Given the description of an element on the screen output the (x, y) to click on. 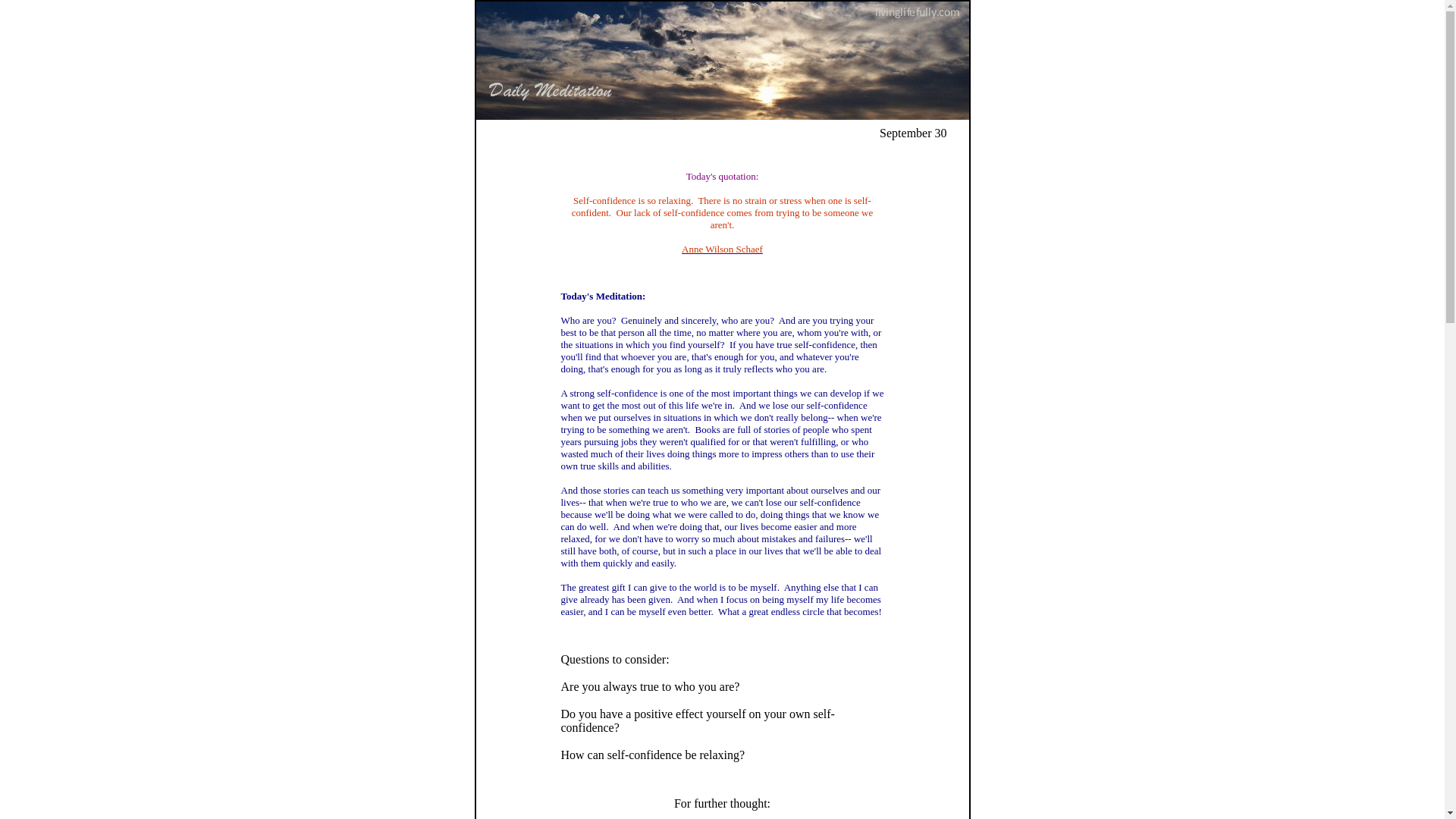
Anne Wilson Schaef (721, 260)
